Given the description of an element on the screen output the (x, y) to click on. 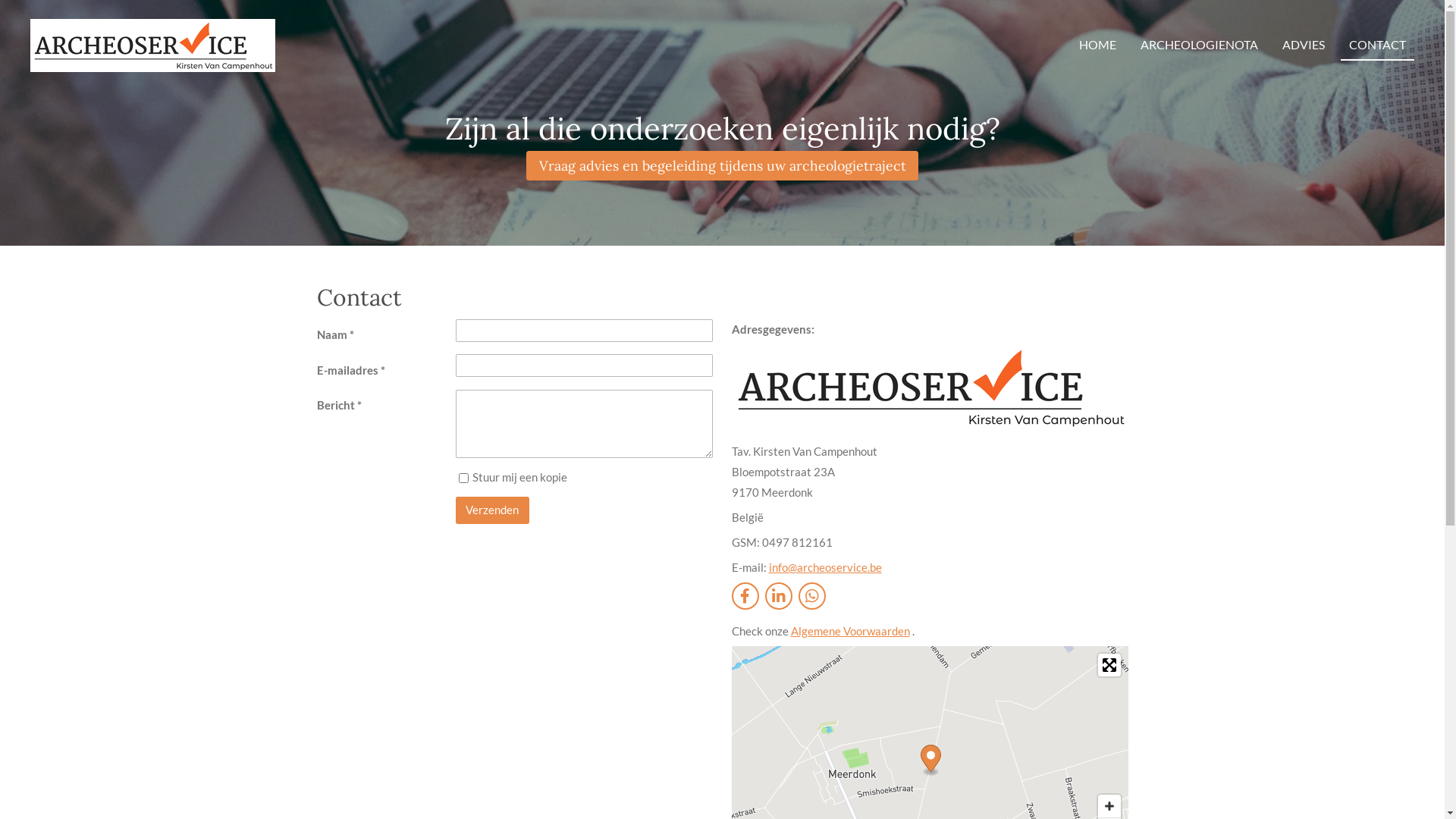
CONTACT Element type: text (1377, 45)
Vraag advies en begeleiding tijdens uw archeologietraject Element type: text (721, 165)
HOME Element type: text (1097, 45)
Algemene Voorwaarden Element type: text (849, 630)
ARCHEOLOGIENOTA Element type: text (1199, 45)
Verzenden Element type: text (492, 509)
Archeoservice Archeologienota Element type: hover (152, 45)
info@archeoservice.be Element type: text (824, 566)
ADVIES Element type: text (1303, 45)
